Given the description of an element on the screen output the (x, y) to click on. 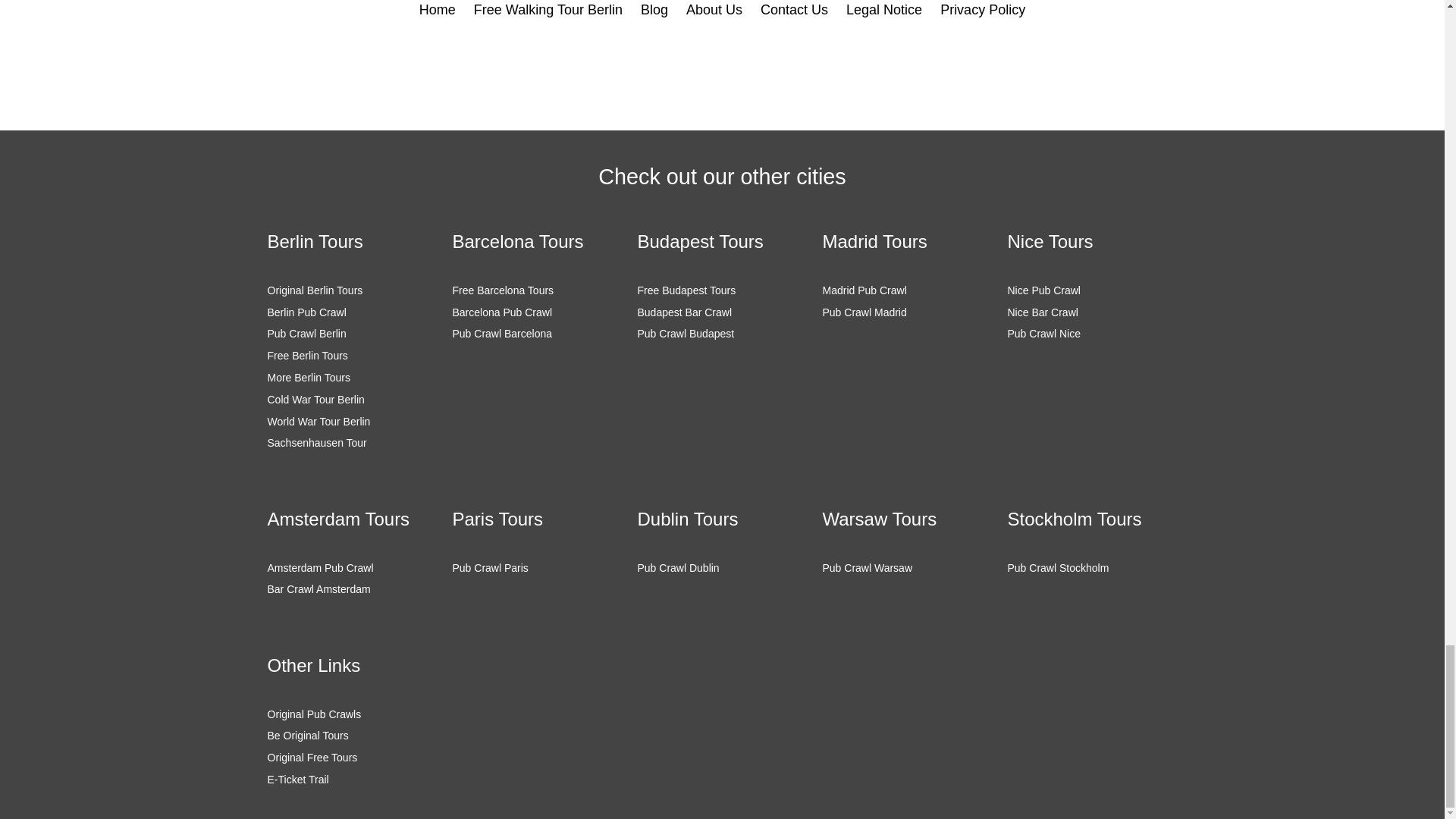
Pub Crawl Berlin (306, 333)
About Us (713, 10)
Free Berlin Tours (306, 355)
Sachsenhausen Tour (316, 442)
Original Berlin Tours (314, 290)
Free Barcelona Tours (502, 290)
Contact Us (794, 10)
Blog (654, 10)
Barcelona Pub Crawl (501, 312)
Legal Notice (883, 10)
World War Tour Berlin (317, 421)
Berlin Pub Crawl (306, 312)
Free Walking Tour Berlin (548, 10)
Privacy Policy (982, 10)
Cold War Tour Berlin (315, 399)
